Given the description of an element on the screen output the (x, y) to click on. 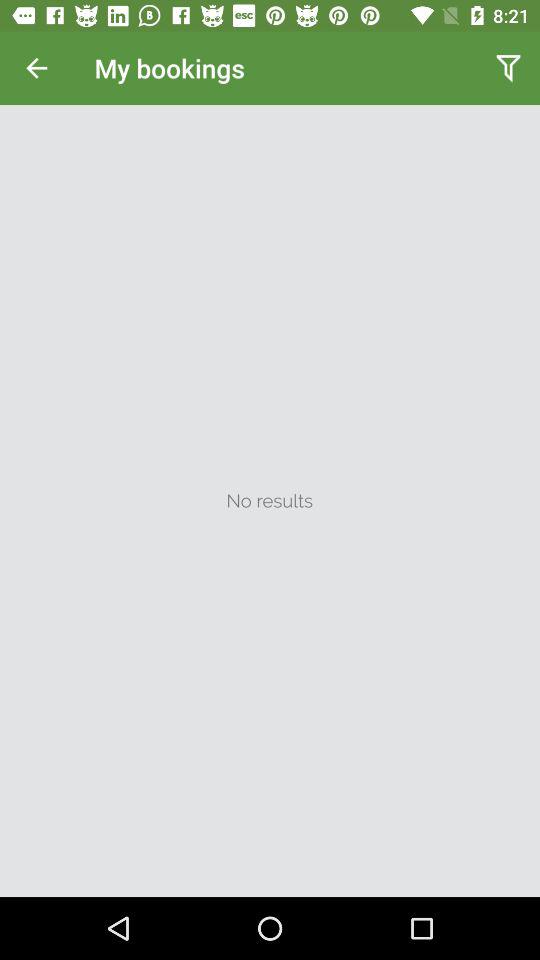
open app to the left of the my bookings (36, 68)
